Given the description of an element on the screen output the (x, y) to click on. 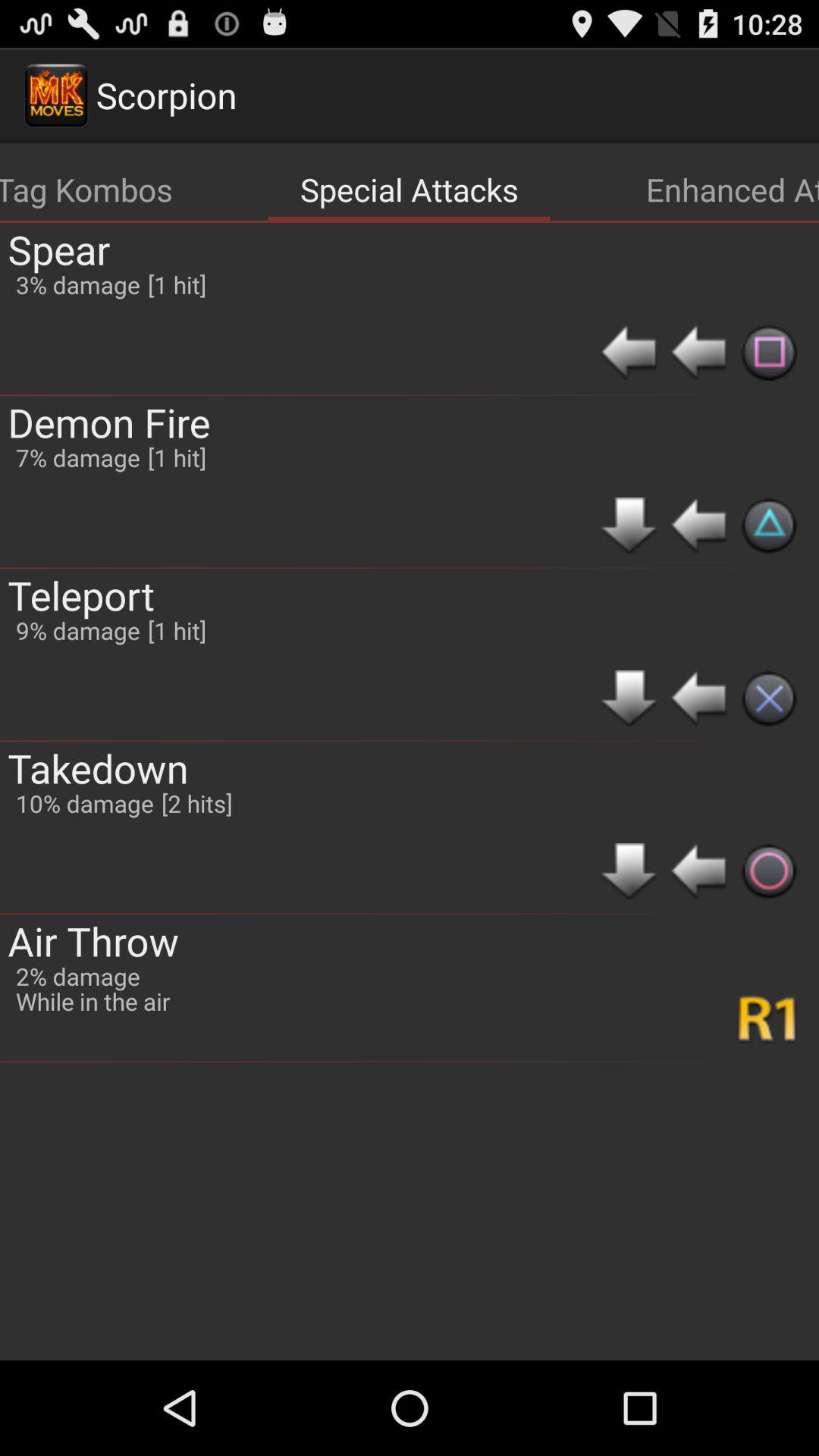
turn off item to the left of special attacks item (86, 189)
